Given the description of an element on the screen output the (x, y) to click on. 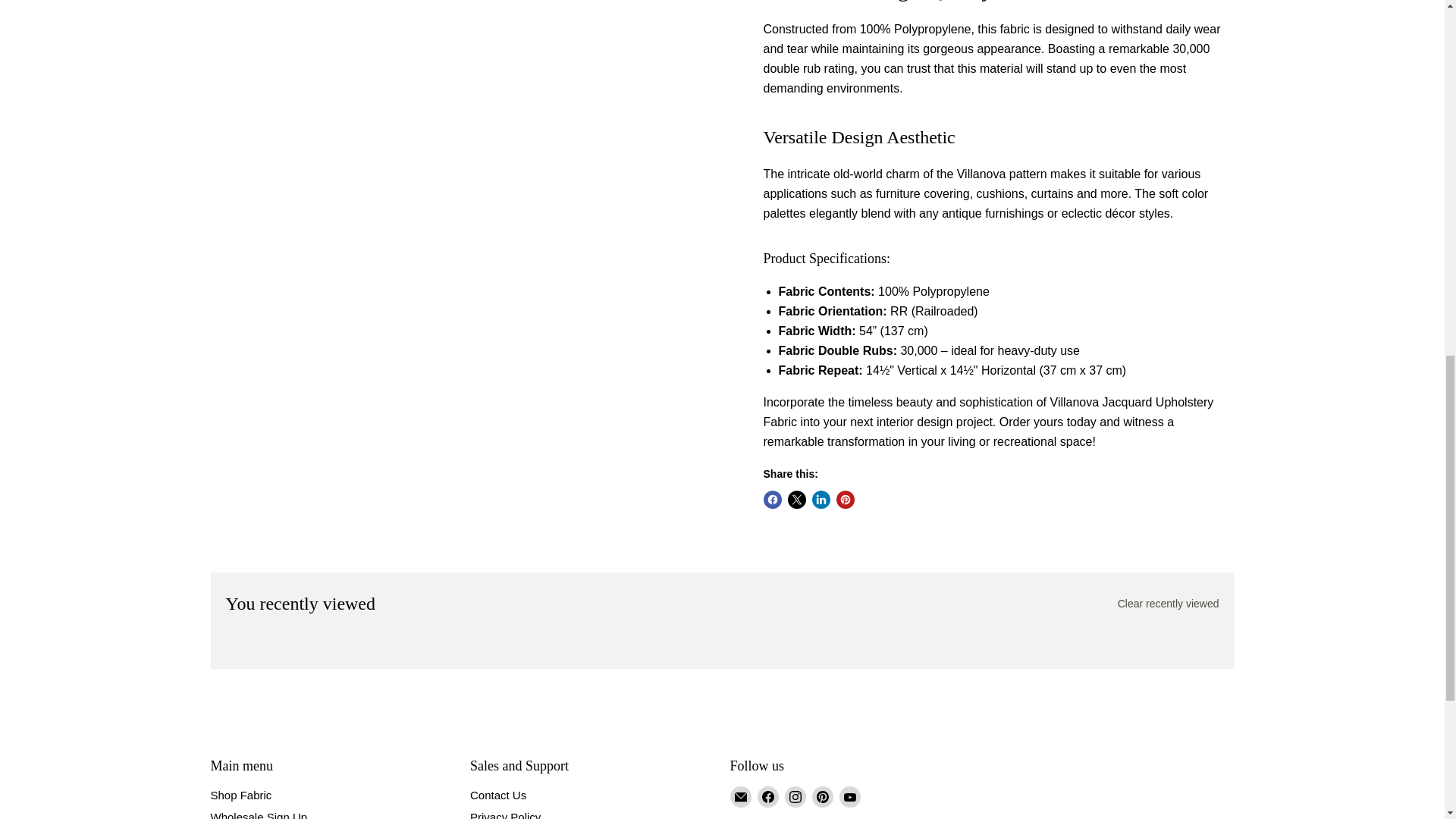
YouTube (849, 796)
Facebook (767, 796)
Pinterest (821, 796)
Instagram (794, 796)
Email (740, 796)
